Given the description of an element on the screen output the (x, y) to click on. 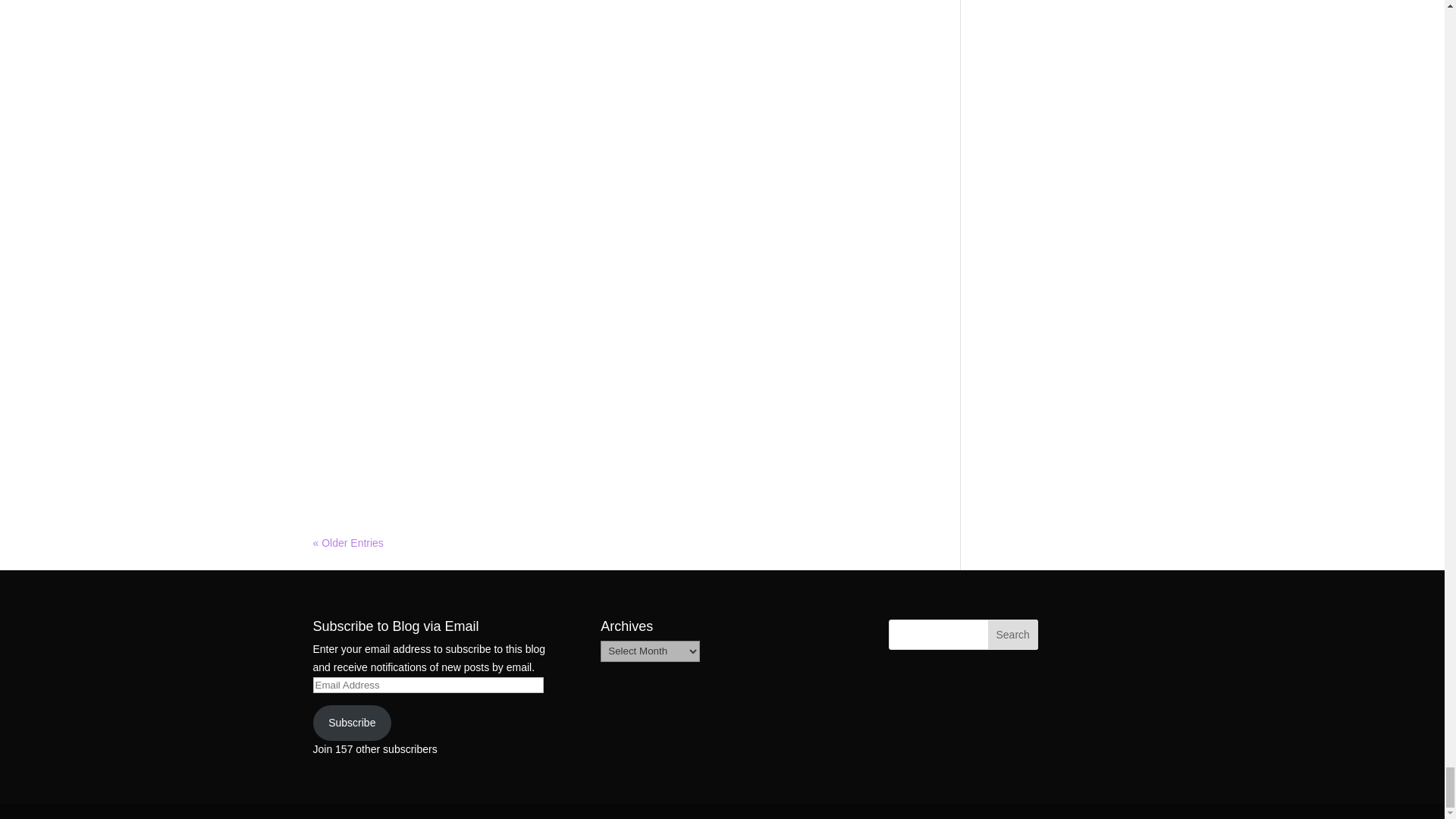
Search (1013, 634)
